Given the description of an element on the screen output the (x, y) to click on. 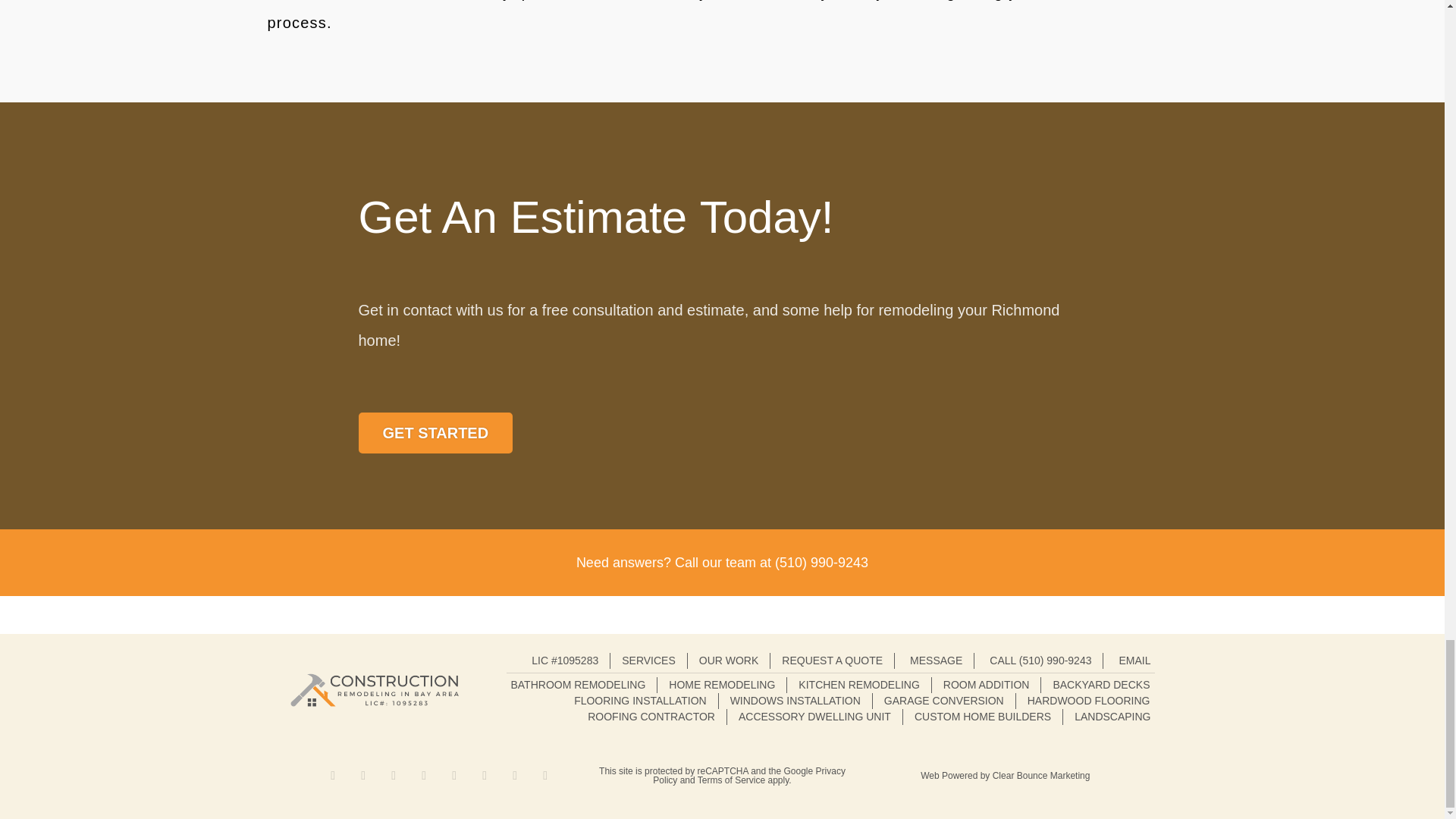
GET STARTED (435, 432)
REQUEST A QUOTE (831, 660)
OUR WORK (728, 660)
SERVICES (648, 660)
FLOORING INSTALLATION (639, 700)
GARAGE CONVERSION (943, 700)
ROOM ADDITION (986, 684)
KITCHEN REMODELING (857, 684)
WINDOWS INSTALLATION (795, 700)
ROOFING CONTRACTOR (651, 716)
